Given the description of an element on the screen output the (x, y) to click on. 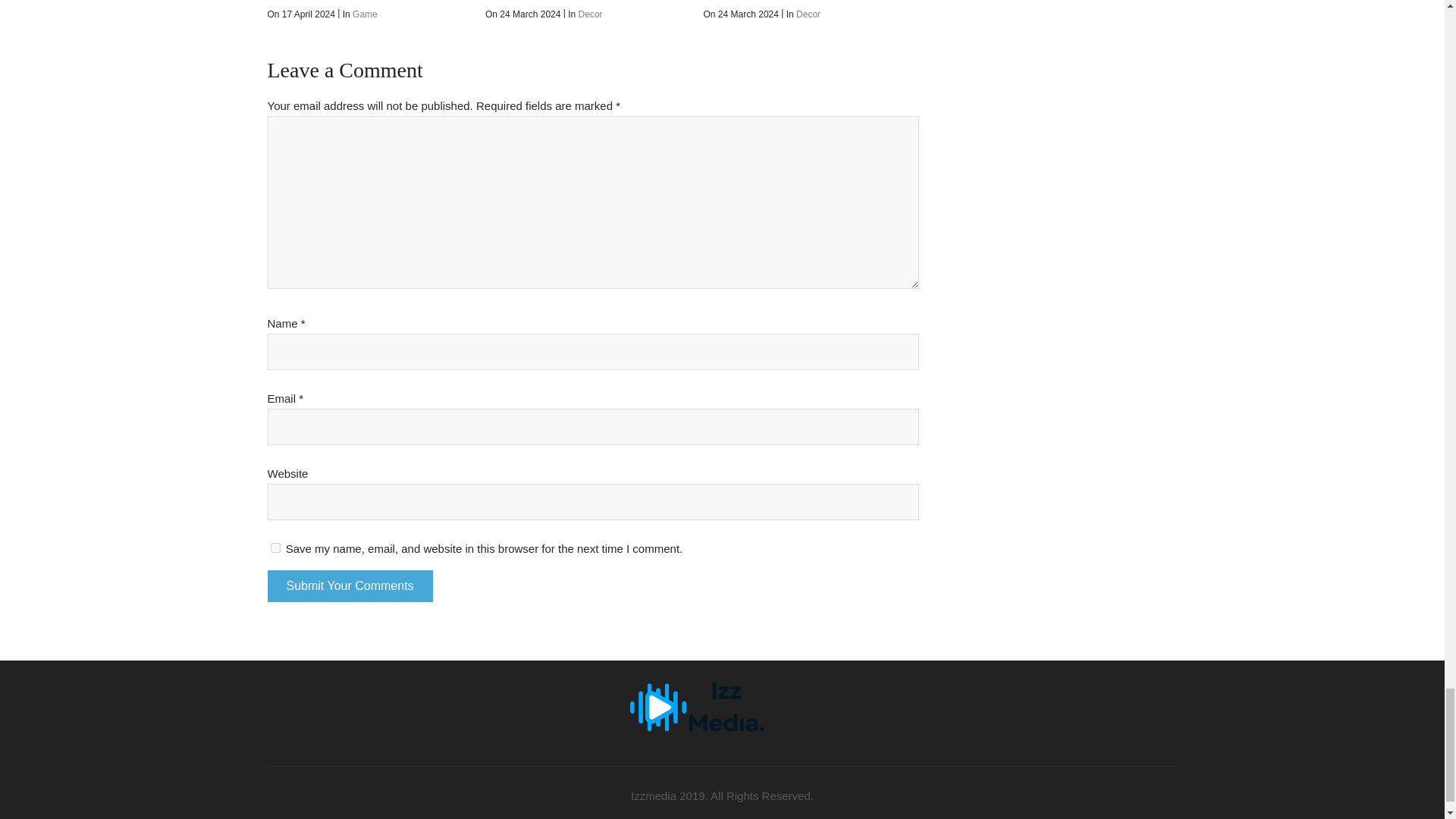
yes (274, 547)
Izzmedia (722, 694)
Decor (808, 14)
Game (364, 14)
Decor (590, 14)
Submit Your Comments (349, 585)
Submit Your Comments (349, 585)
